Given the description of an element on the screen output the (x, y) to click on. 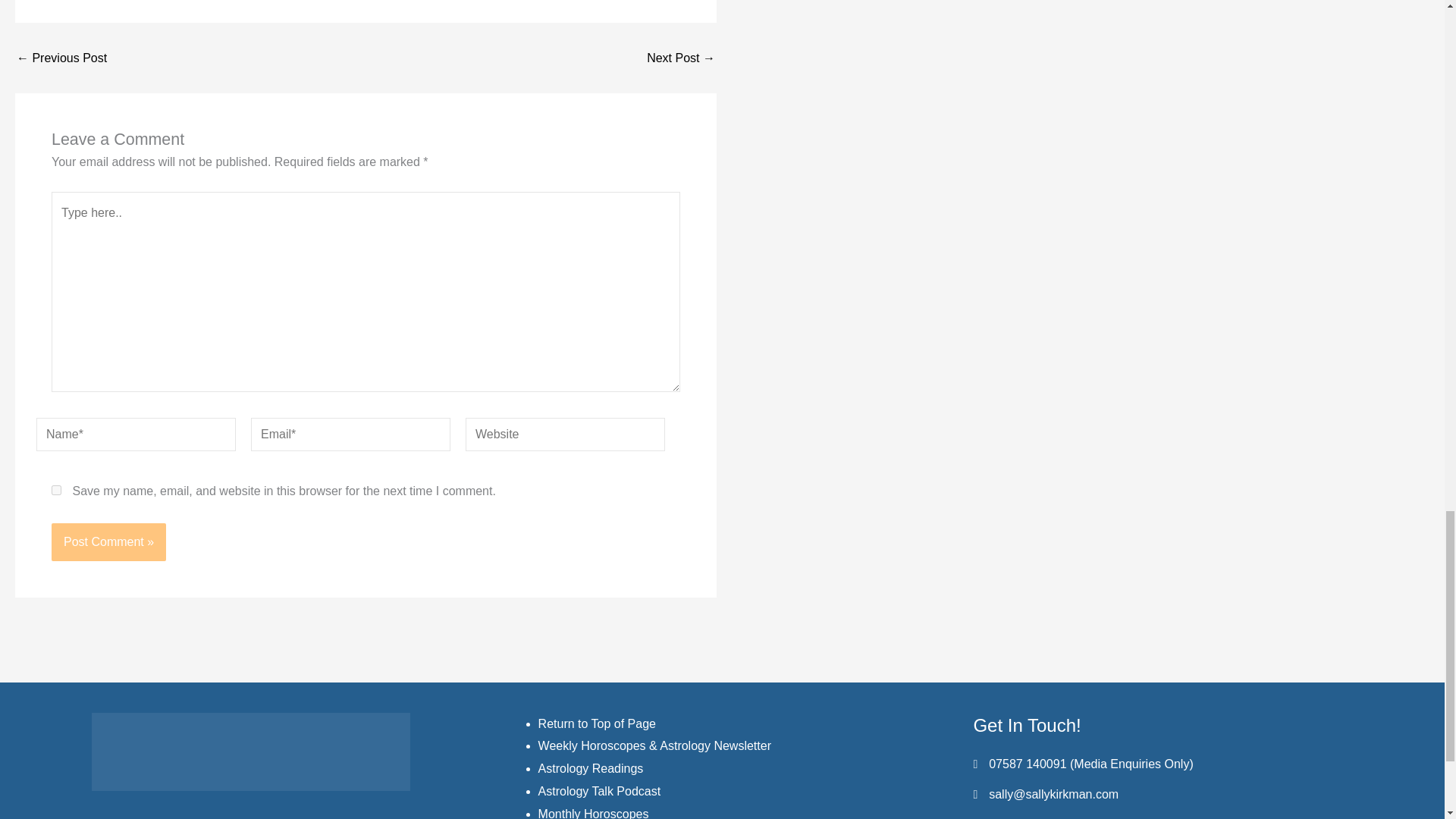
Pisces Monthly Stars March 2013 (680, 58)
yes (55, 490)
Taurus Monthly Stars March 2013 (61, 58)
SALLY KIRKMAN ASTROLOGER WHITE (250, 751)
